Given the description of an element on the screen output the (x, y) to click on. 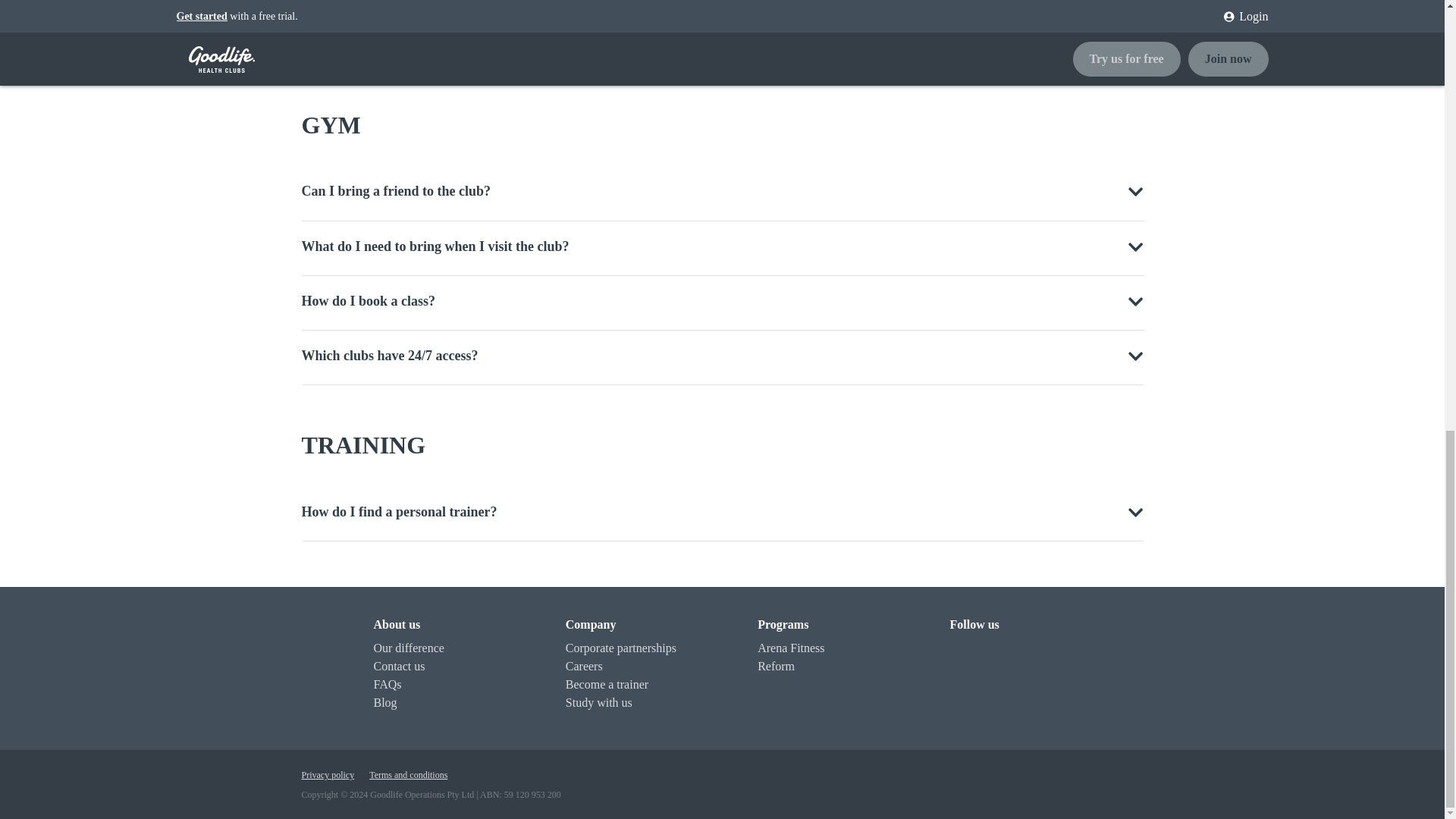
Study with us (598, 702)
Terms and conditions (407, 774)
Arena Fitness (790, 647)
Become a trainer (606, 683)
Corporate partnerships (621, 647)
Careers (584, 665)
Contact us (398, 665)
FAQs (386, 683)
Reform (775, 665)
Privacy policy (328, 774)
